Given the description of an element on the screen output the (x, y) to click on. 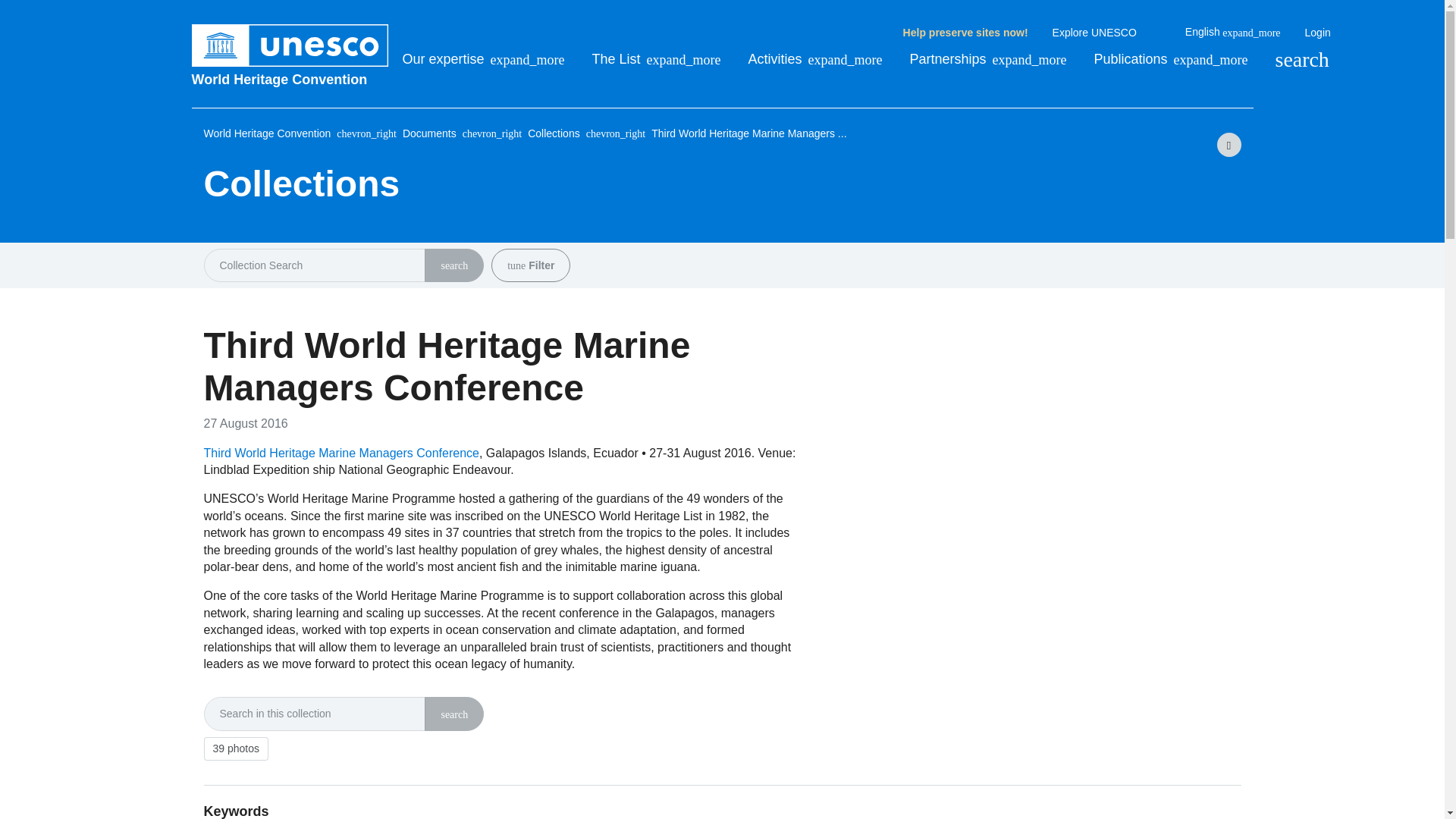
World Heritage Convention (289, 79)
Document Search (454, 715)
Document Search (454, 266)
Our expertise (482, 58)
The List (656, 58)
Login (1317, 32)
Search (1302, 59)
Help preserve sites now! (964, 32)
Share (1228, 144)
Filter your search (515, 266)
Explore UNESCO (1106, 32)
English (1233, 32)
